Given the description of an element on the screen output the (x, y) to click on. 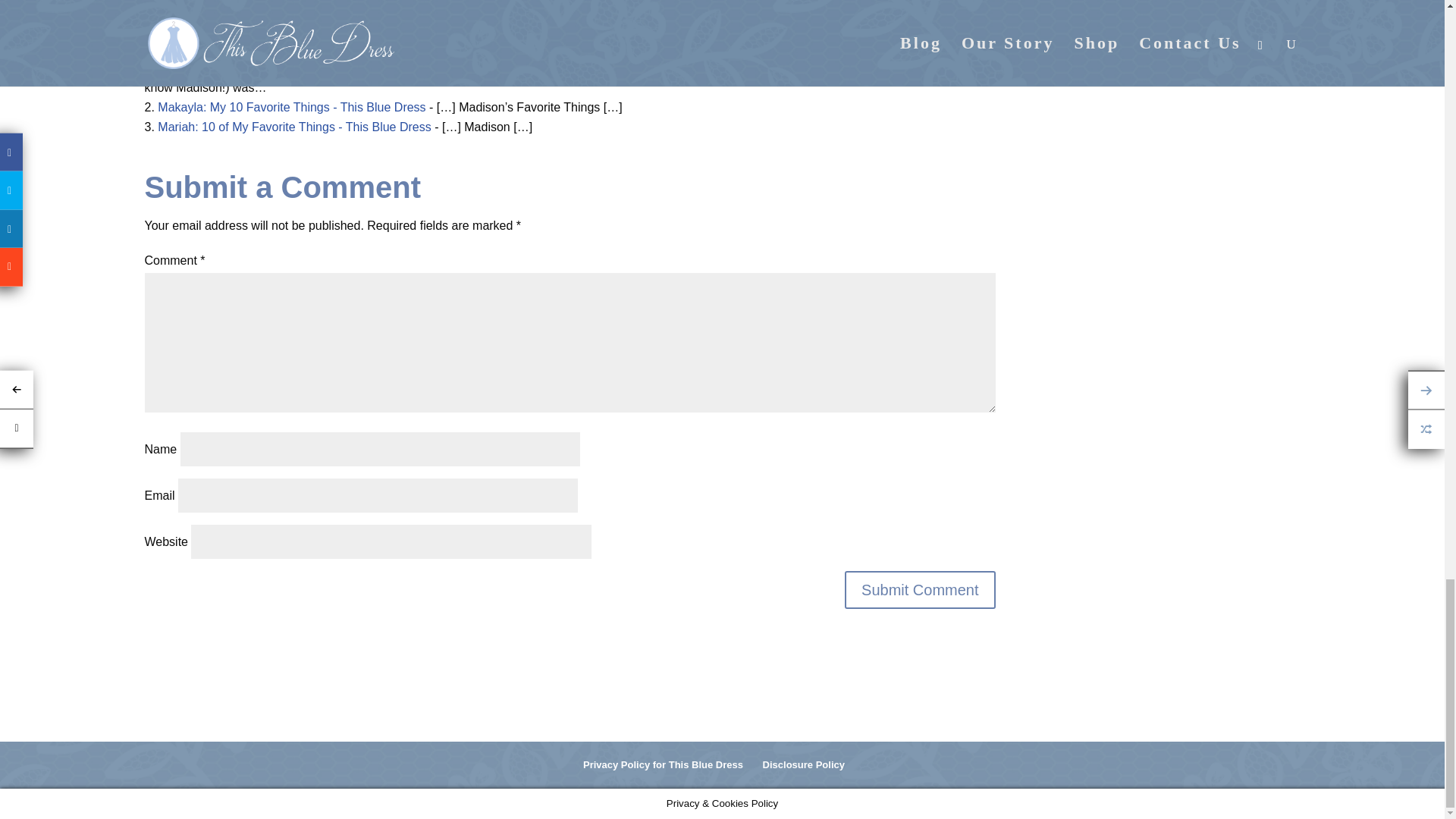
Disclosure Policy (803, 764)
Submit Comment (919, 589)
Mariah: 10 of My Favorite Things - This Blue Dress (293, 126)
Privacy Policy for This Blue Dress (662, 764)
Makayla: My 10 Favorite Things - This Blue Dress (291, 106)
Avatar: The Last Airbender Party Ideas - This Blue Dress (310, 67)
Submit Comment (919, 589)
